Given the description of an element on the screen output the (x, y) to click on. 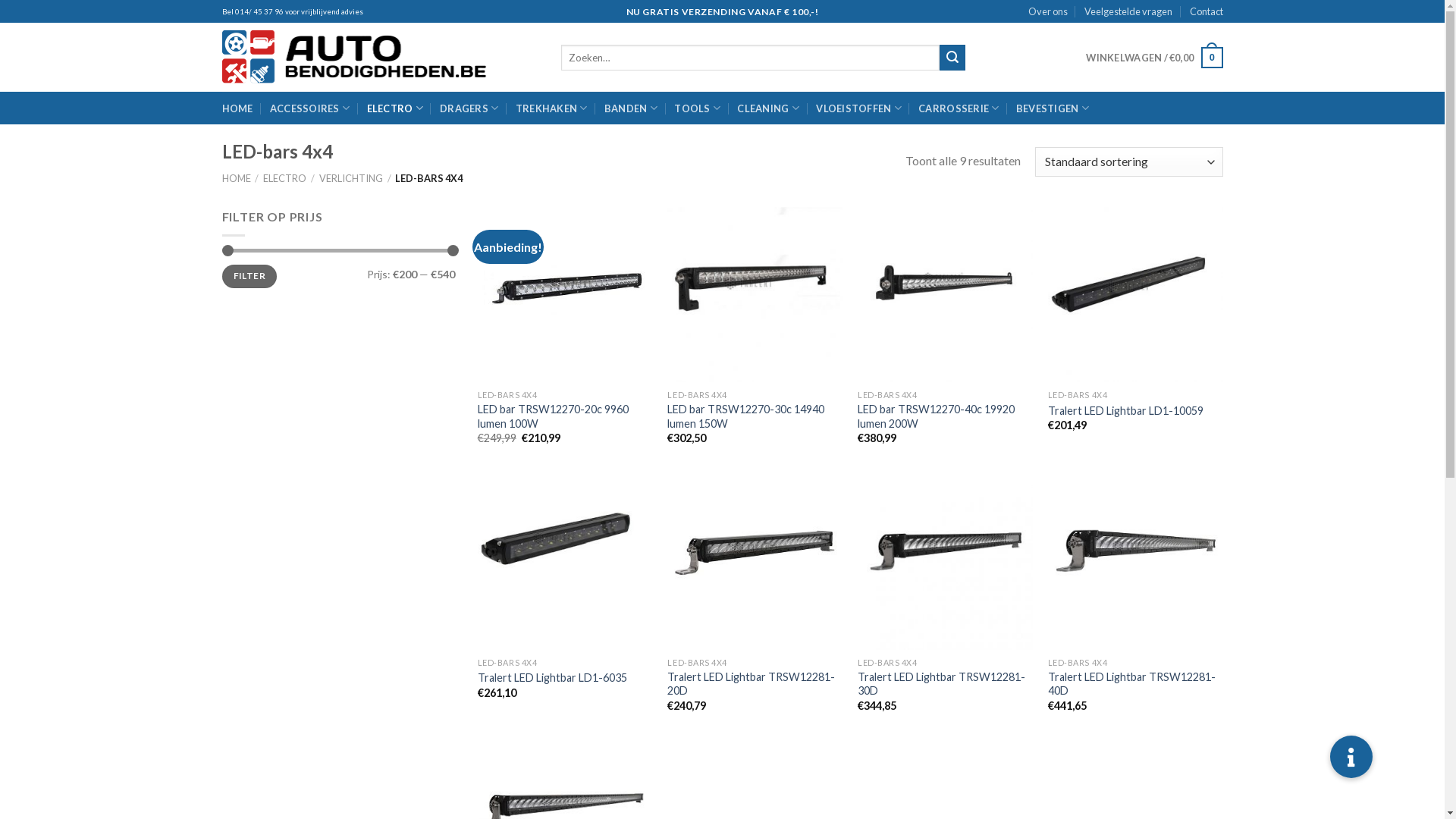
DRAGERS Element type: text (468, 108)
LED bar TRSW12270-40c 19920 lumen 200W Element type: text (944, 416)
Veelgestelde vragen Element type: text (1128, 11)
LED bar TRSW12270-30c 14940 lumen 150W Element type: text (754, 416)
Tralert LED Lightbar LD1-10059 Element type: text (1125, 411)
Zoeken Element type: text (952, 57)
CLEANING Element type: text (768, 108)
BEVESTIGEN Element type: text (1052, 108)
ELECTRO Element type: text (284, 178)
ACCESSOIRES Element type: text (309, 108)
TREKHAKEN Element type: text (551, 108)
Over ons Element type: text (1047, 11)
HOME Element type: text (236, 108)
Tralert LED Lightbar LD1-6035 Element type: text (552, 678)
Tralert LED Lightbar TRSW12281-20D Element type: text (754, 684)
CARROSSERIE Element type: text (958, 108)
BANDEN Element type: text (630, 108)
LED bar TRSW12270-20c 9960 lumen 100W Element type: text (564, 416)
HOME Element type: text (235, 178)
Tralert LED Lightbar TRSW12281-30D Element type: text (944, 684)
TOOLS Element type: text (697, 108)
ELECTRO Element type: text (395, 108)
Bel 014/ 45 37 96 voor vrijblijvend advies Element type: text (291, 11)
FILTER Element type: text (248, 276)
Tralert LED Lightbar TRSW12281-40D Element type: text (1135, 684)
VLOEISTOFFEN Element type: text (858, 108)
VERLICHTING Element type: text (350, 178)
Contact Element type: text (1205, 11)
